Given the description of an element on the screen output the (x, y) to click on. 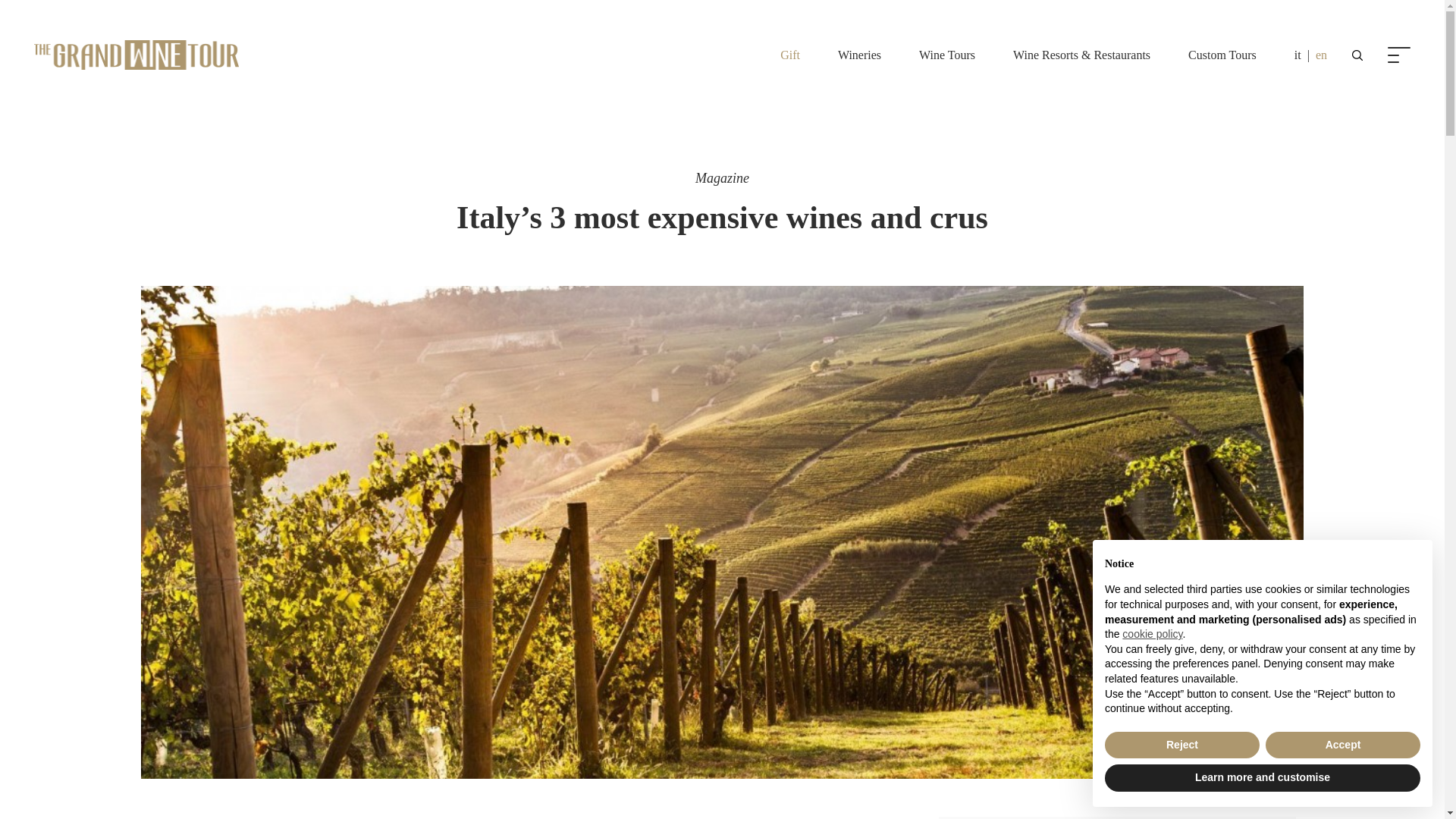
Wine Tours (946, 55)
Wineries (859, 55)
Custom Tours (1222, 55)
